Given the description of an element on the screen output the (x, y) to click on. 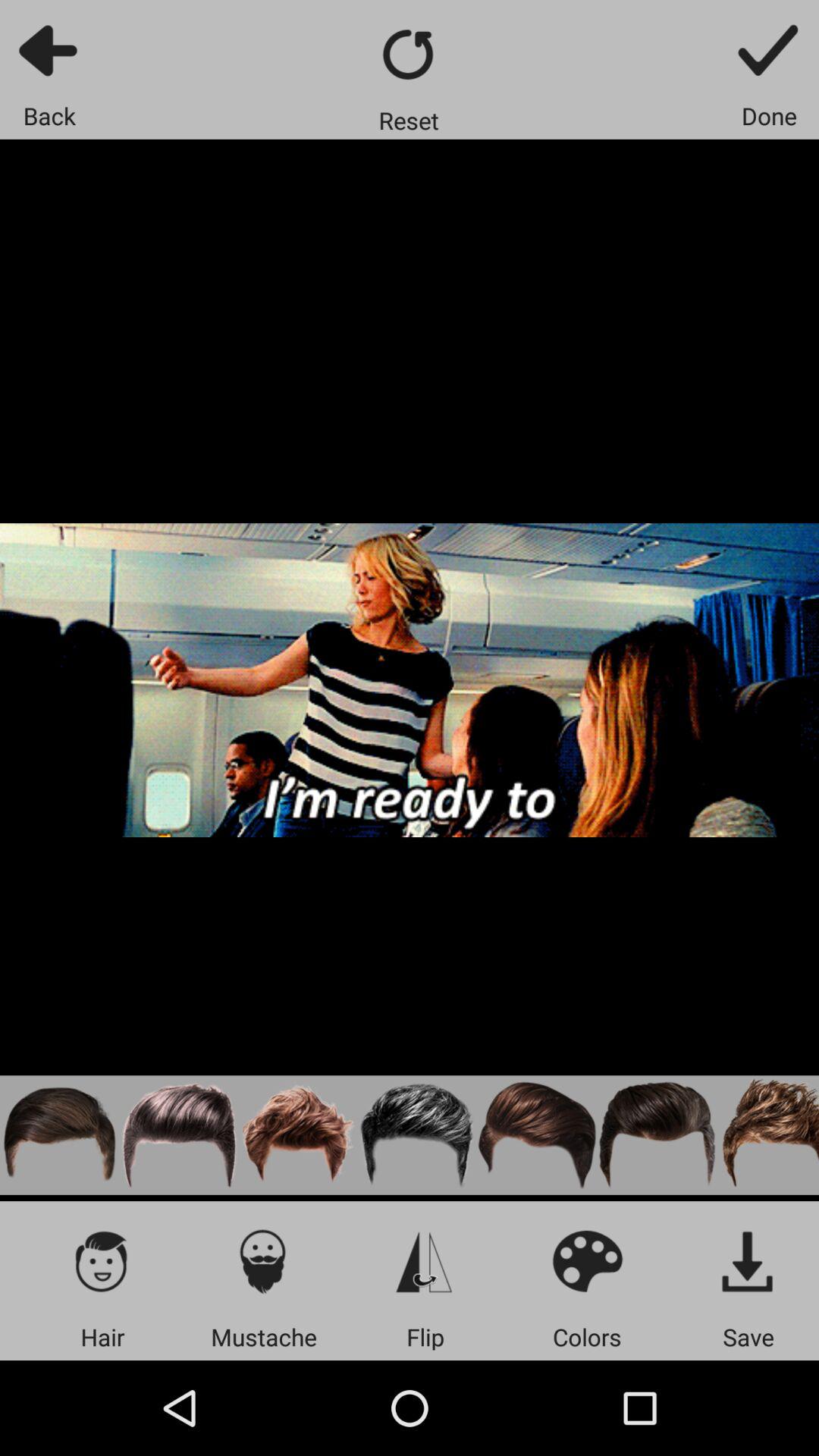
add mustache to image (263, 1260)
